Given the description of an element on the screen output the (x, y) to click on. 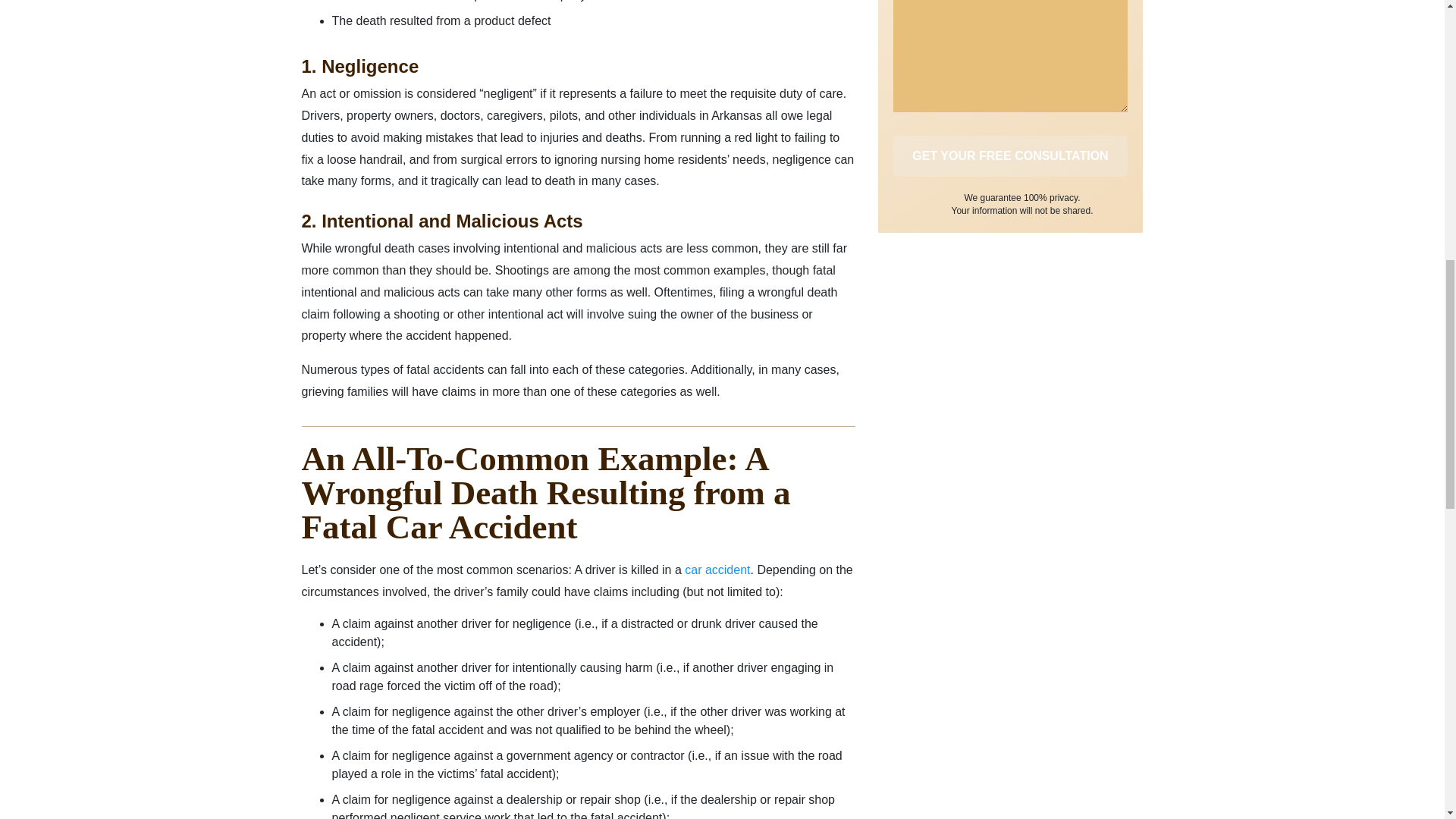
Get Your Free Consultation (1010, 155)
